Given the description of an element on the screen output the (x, y) to click on. 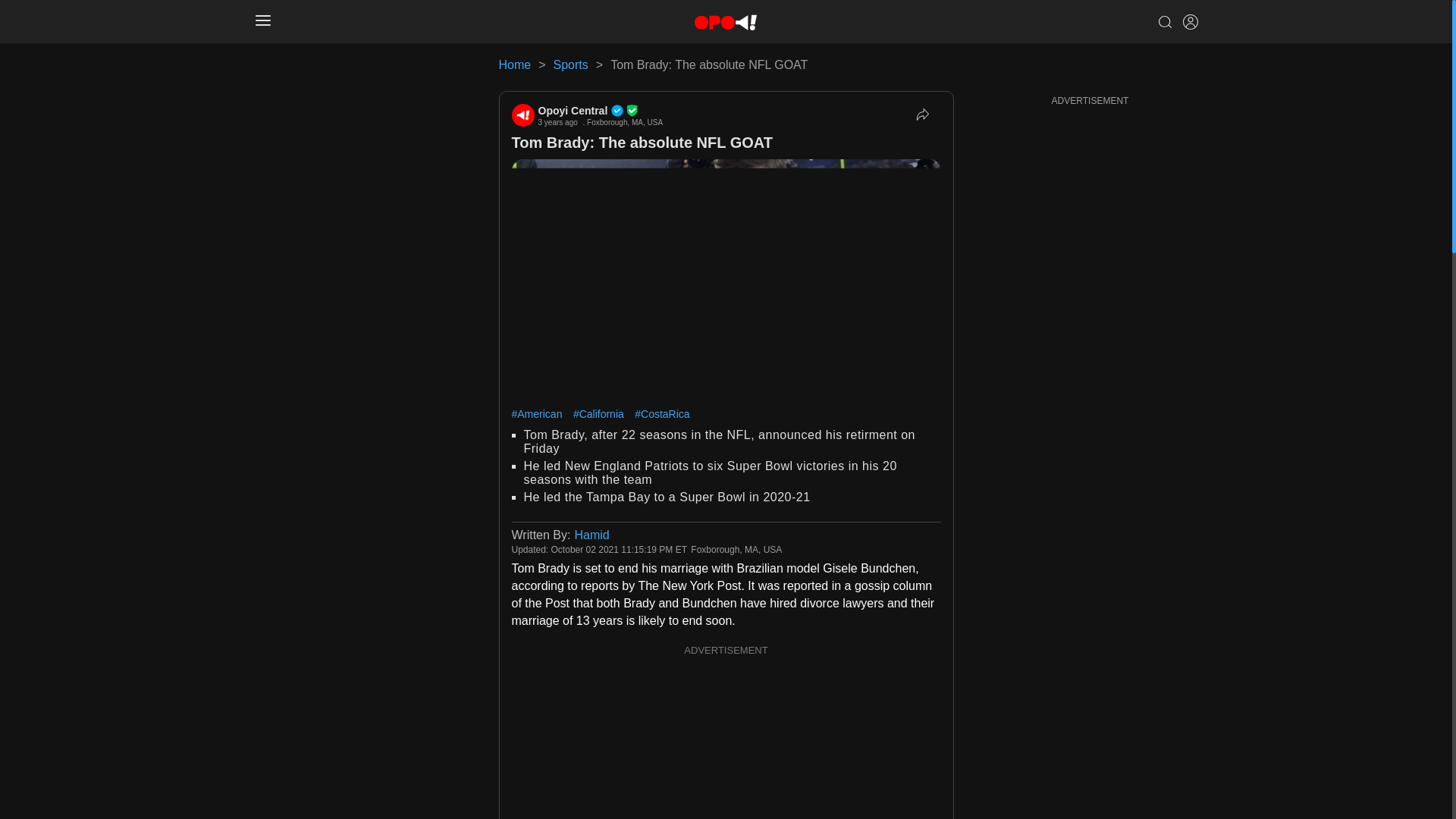
Hamid (590, 534)
Opoyi Central (600, 110)
Sports (570, 64)
Opoyi Central (600, 110)
Home (515, 64)
Tom Brady: The absolute NFL GOAT (641, 142)
 Opoyi Central (522, 115)
